Given the description of an element on the screen output the (x, y) to click on. 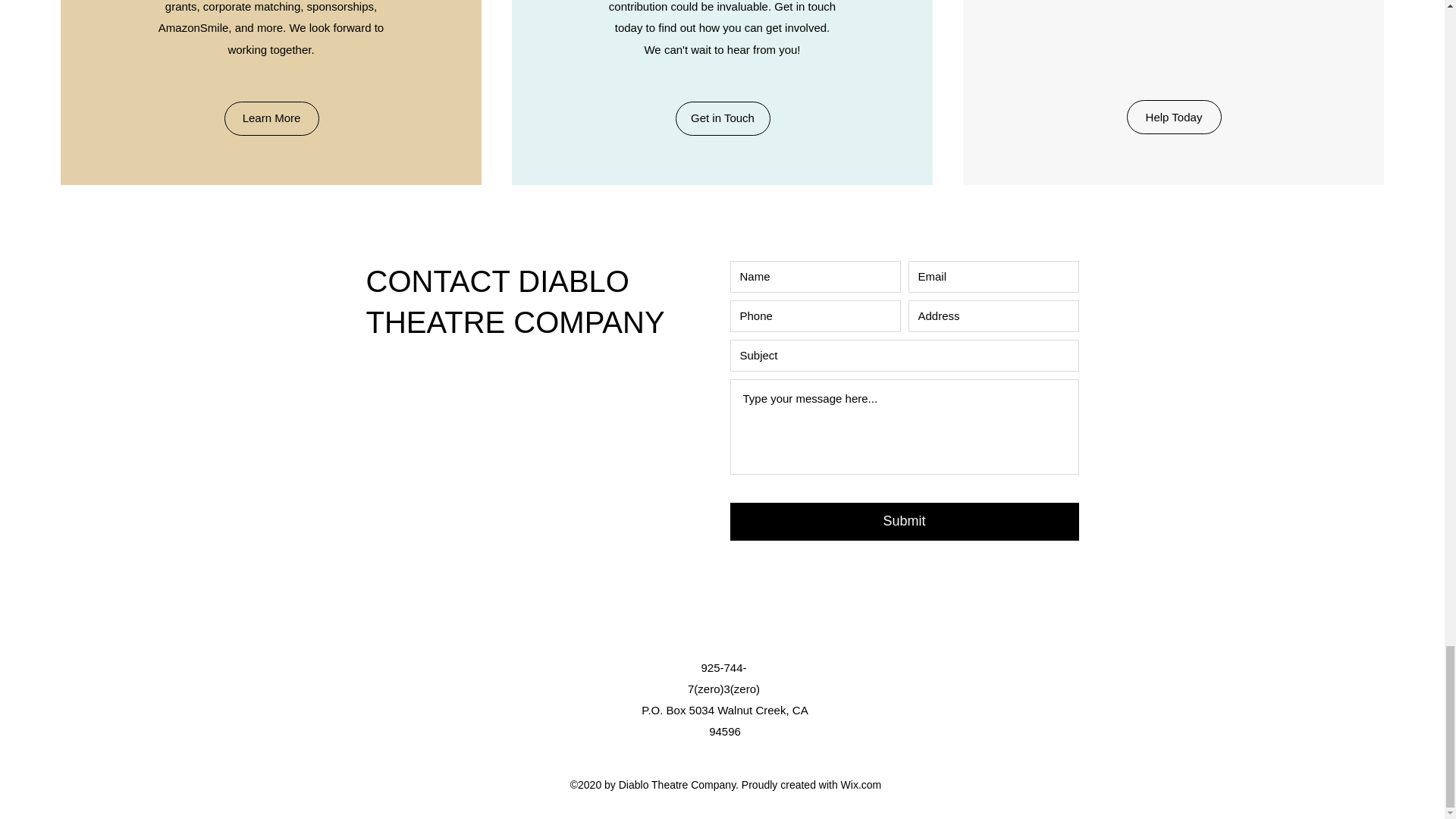
Learn More (271, 118)
Help Today (1173, 116)
Get in Touch (722, 118)
Submit (903, 521)
